Given the description of an element on the screen output the (x, y) to click on. 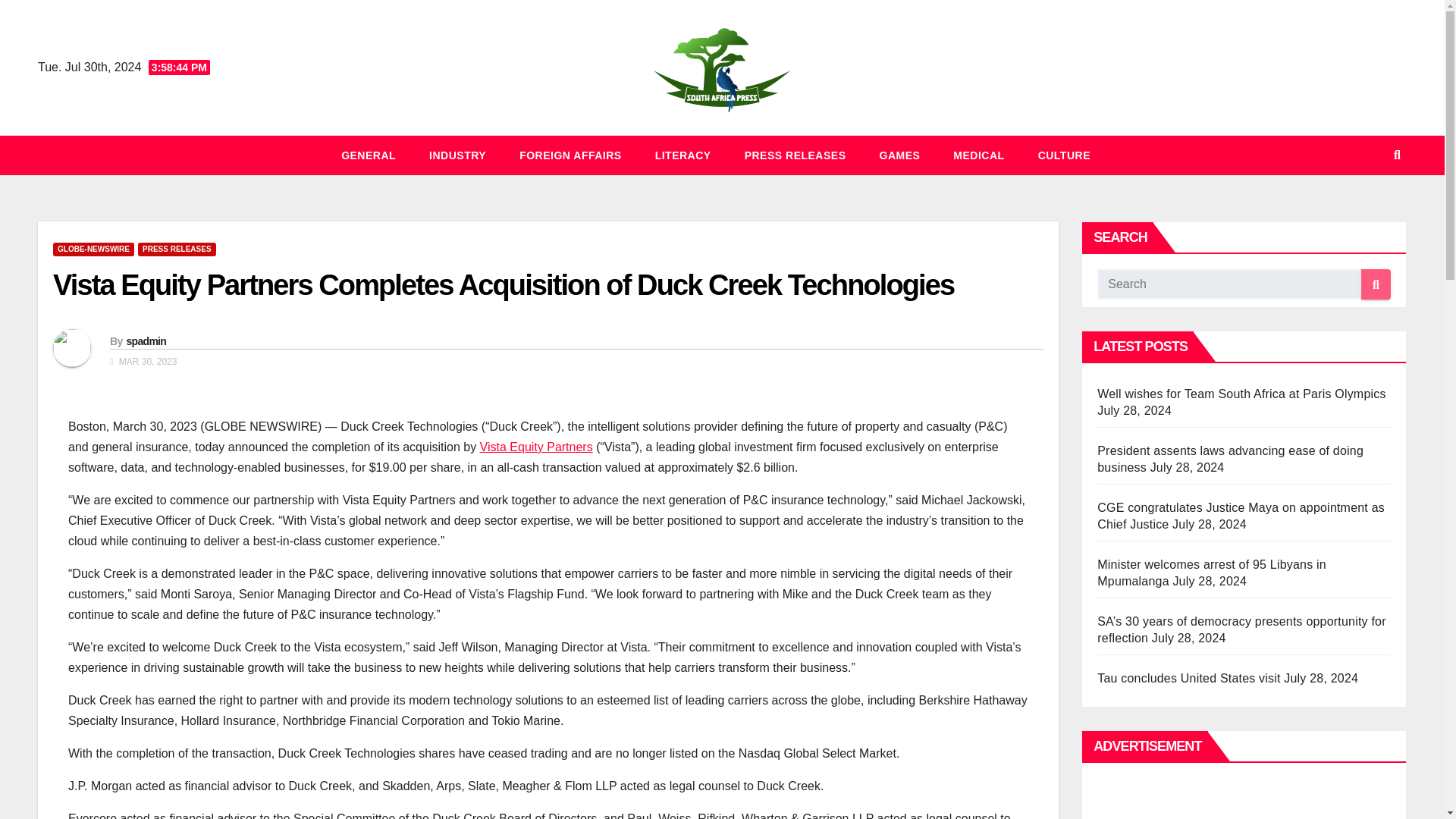
LITERACY (683, 155)
INDUSTRY (457, 155)
GAMES (900, 155)
CULTURE (1064, 155)
Vista Equity Partners (536, 446)
General (368, 155)
PRESS RELEASES (795, 155)
GLOBE-NEWSWIRE (92, 249)
Foreign Affairs (570, 155)
Industry (457, 155)
Press Releases (795, 155)
Literacy (683, 155)
spadmin (145, 340)
